Given the description of an element on the screen output the (x, y) to click on. 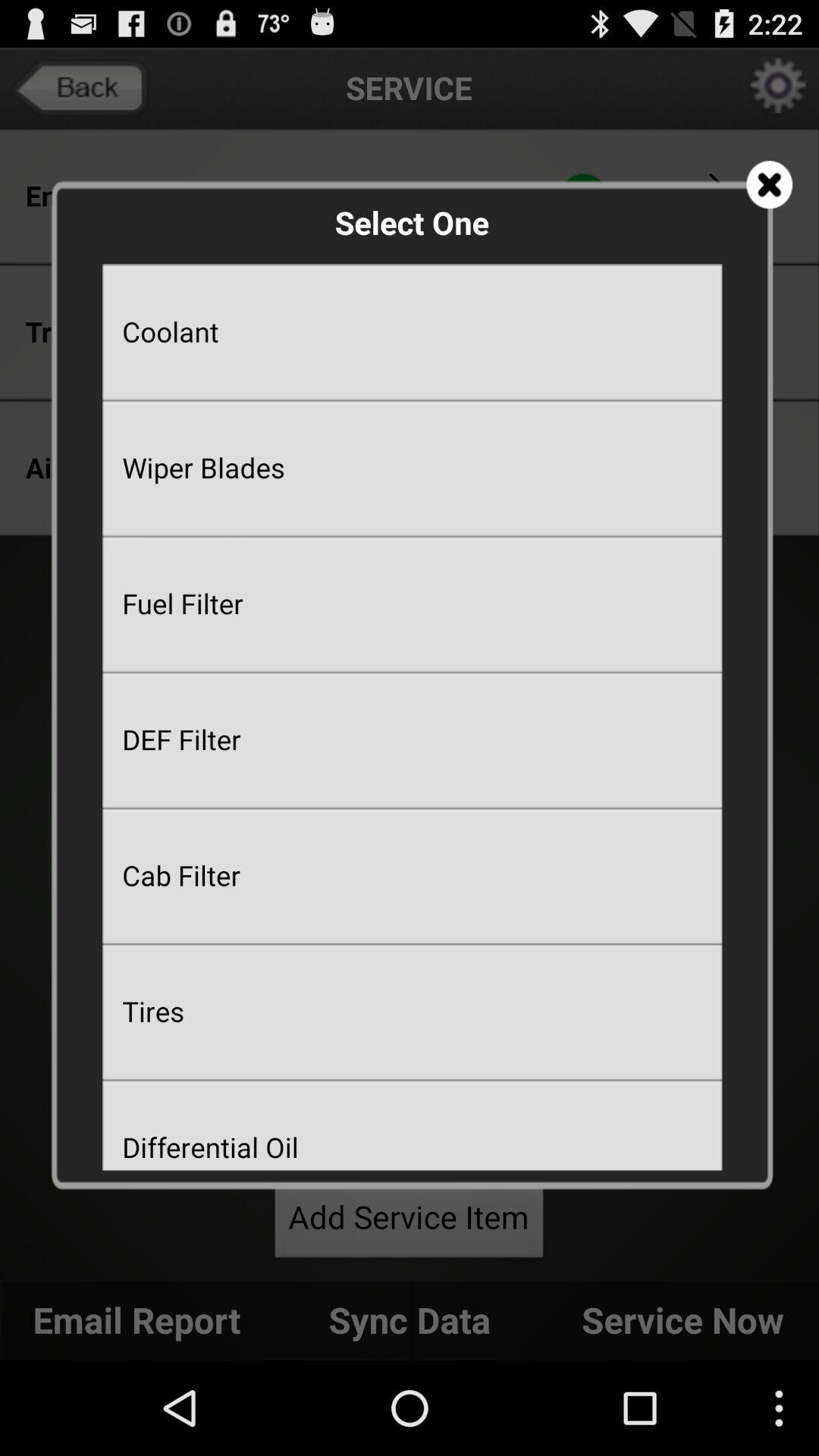
choose icon at the top right corner (769, 184)
